Given the description of an element on the screen output the (x, y) to click on. 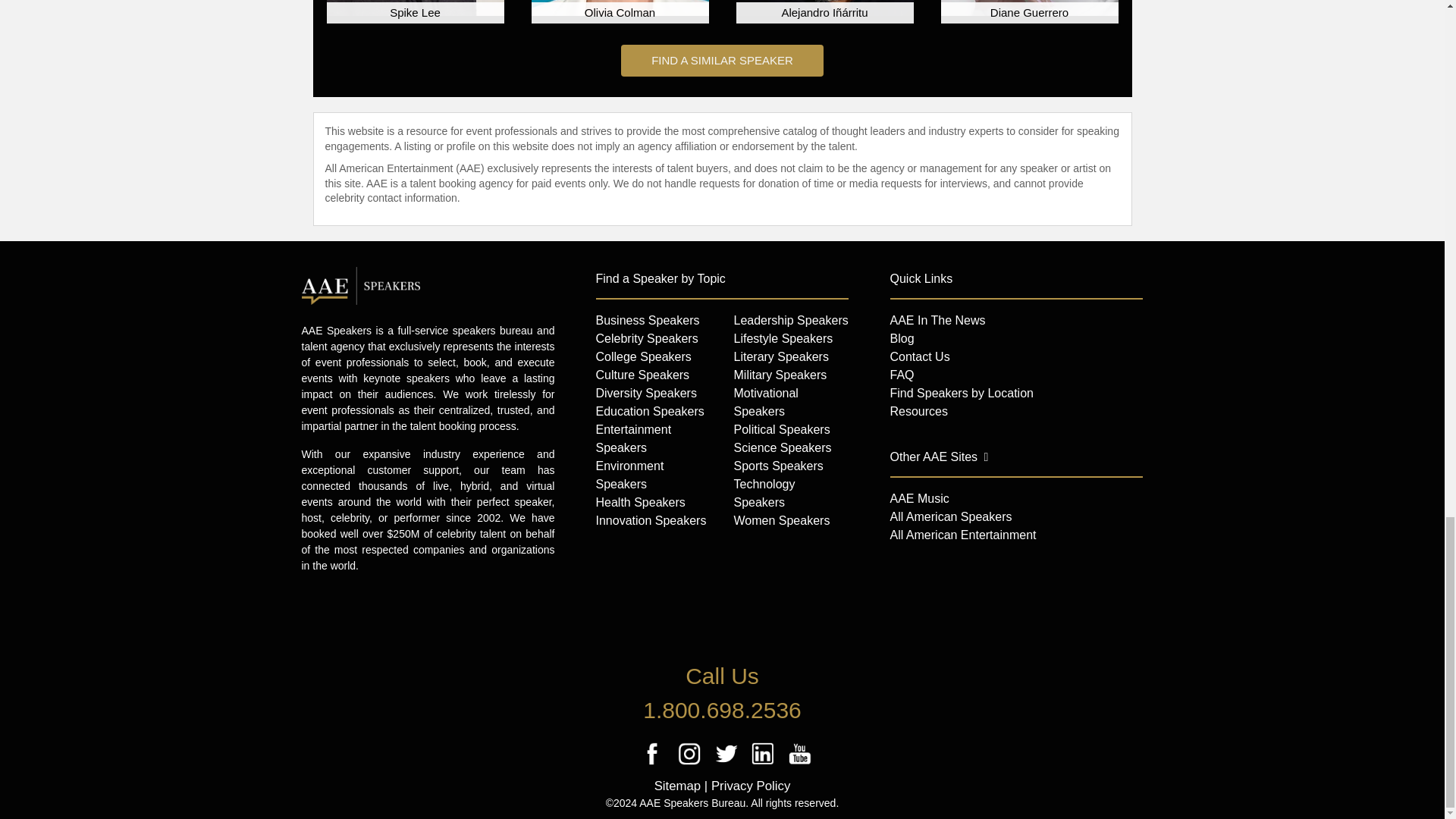
Olivia Colman (619, 7)
Spike Lee (414, 7)
Diane Guerrero (1029, 7)
